Given the description of an element on the screen output the (x, y) to click on. 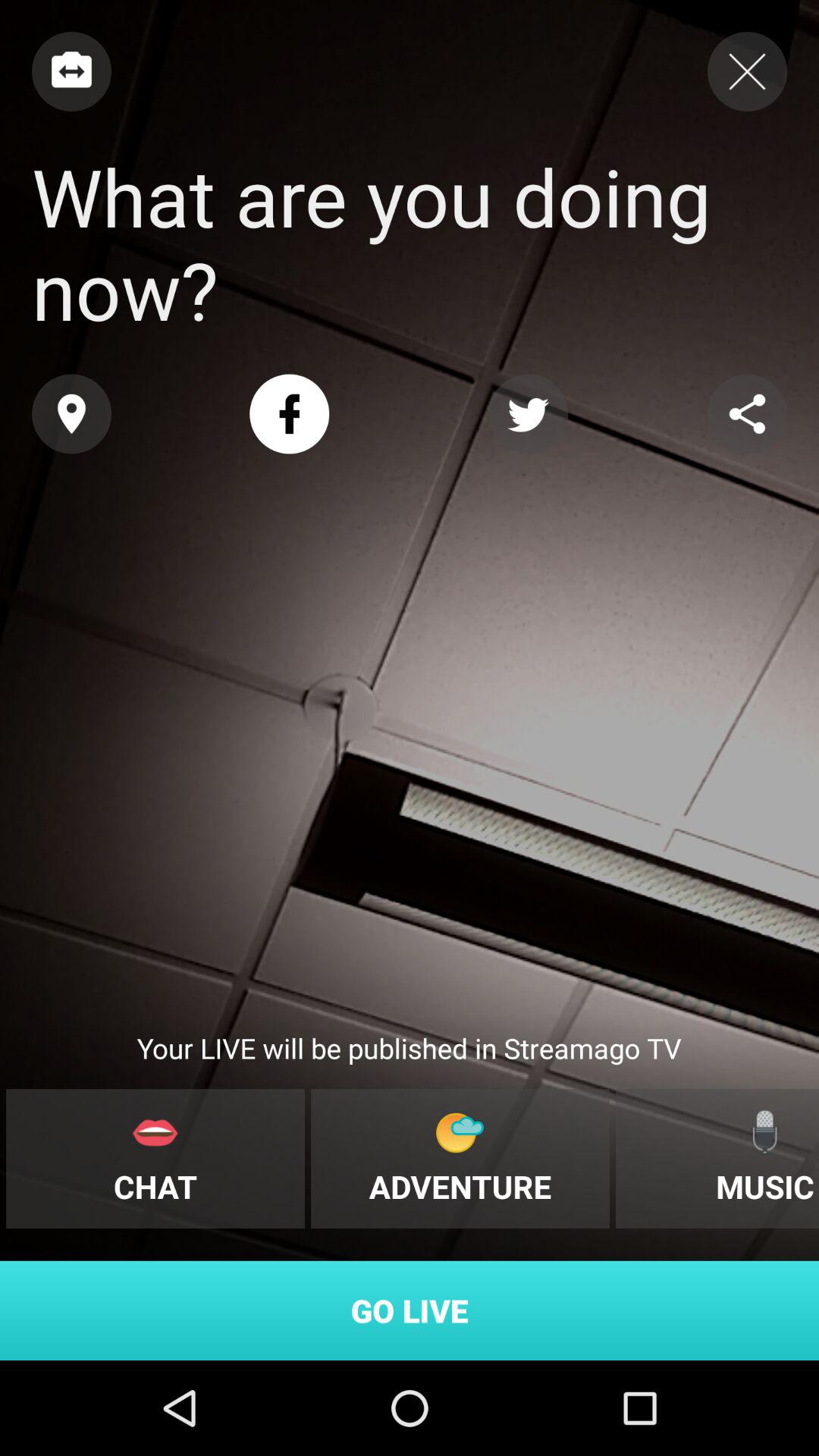
go to twitter page (528, 413)
